Given the description of an element on the screen output the (x, y) to click on. 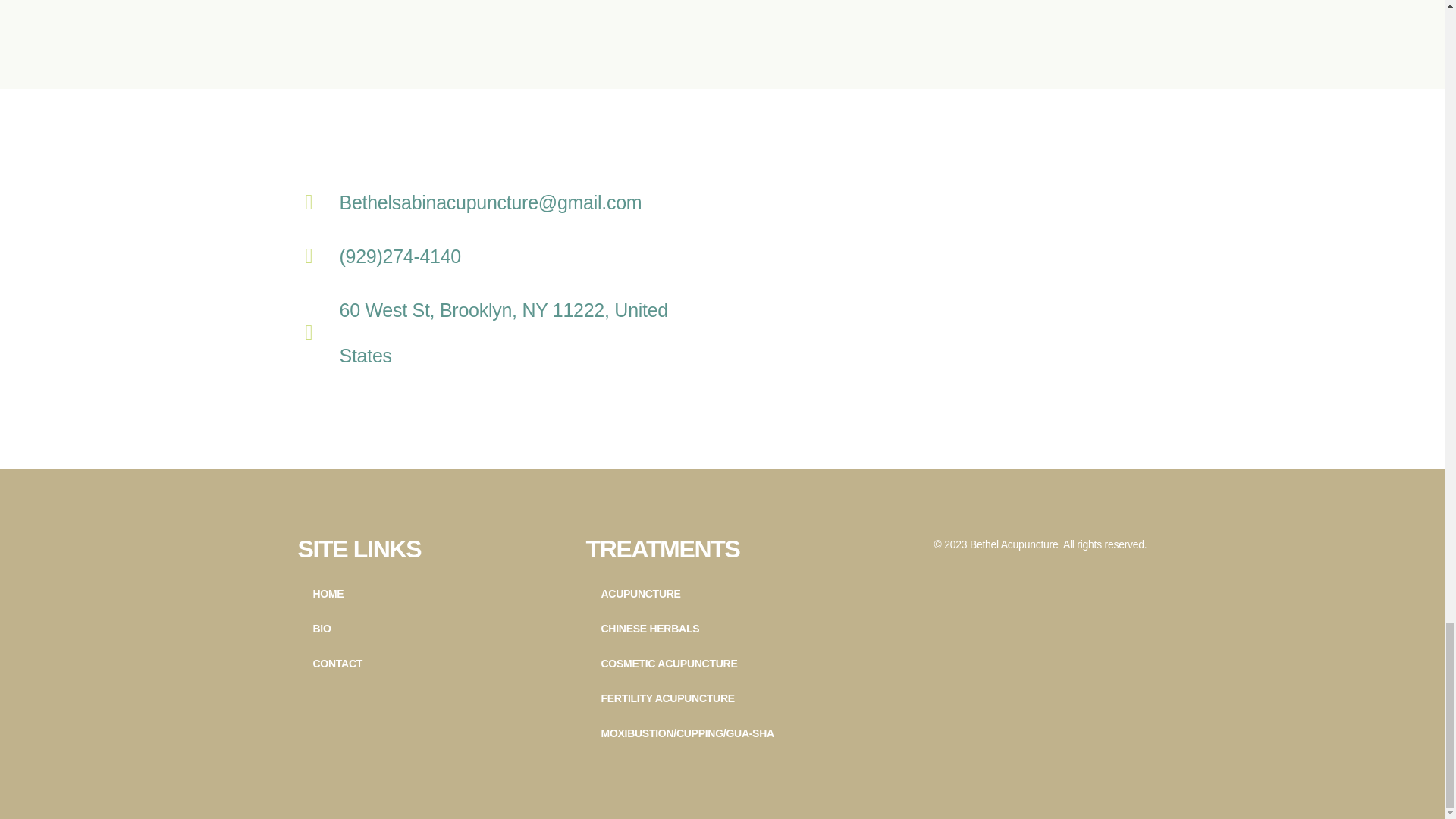
CHINESE HERBALS (722, 628)
 60 West St, Brooklyn, NY 11222, United States (933, 279)
HOME (433, 593)
ACUPUNCTURE (722, 593)
BIO (433, 628)
CONTACT (433, 663)
